Given the description of an element on the screen output the (x, y) to click on. 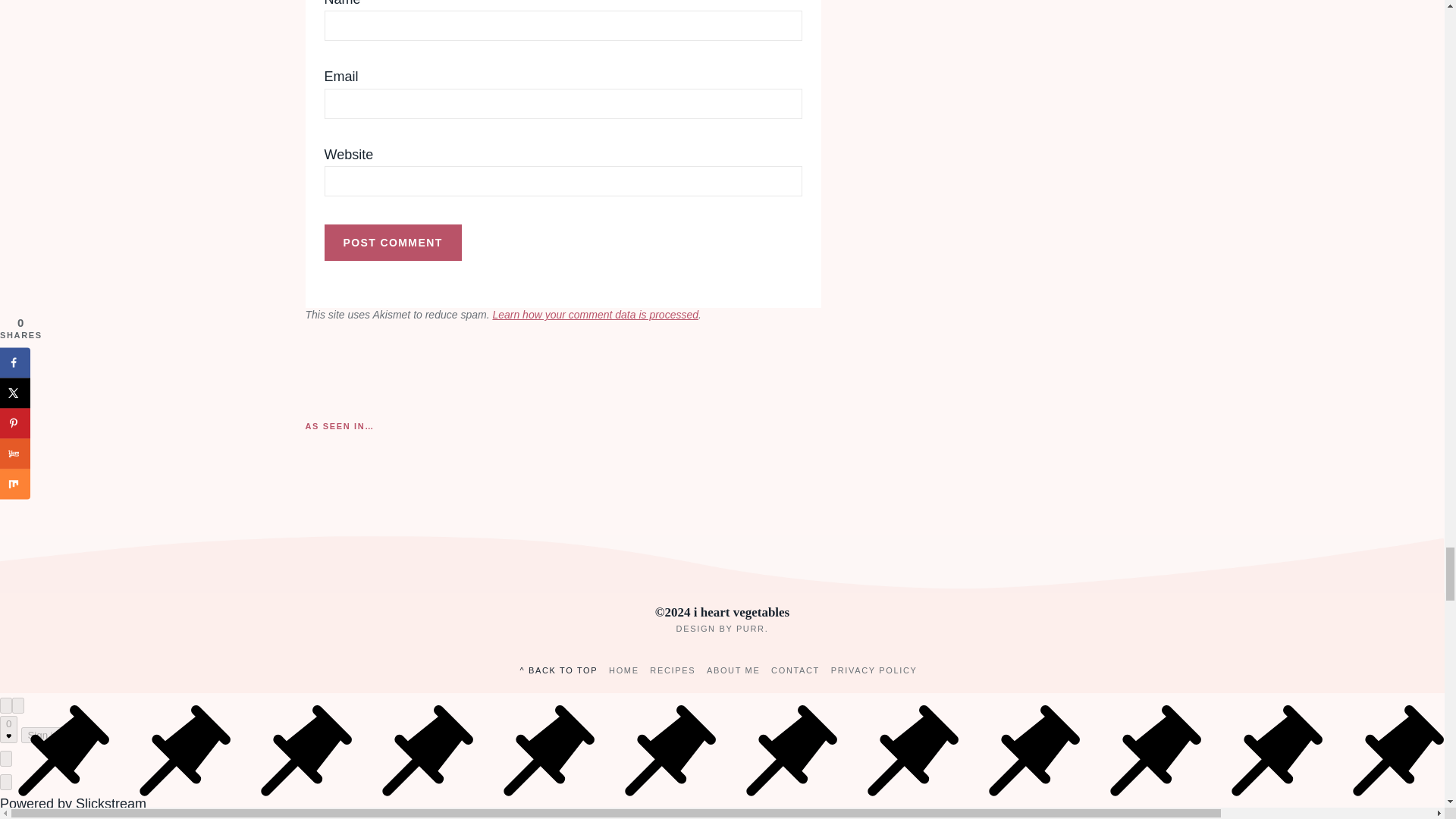
Post Comment (392, 242)
